Given the description of an element on the screen output the (x, y) to click on. 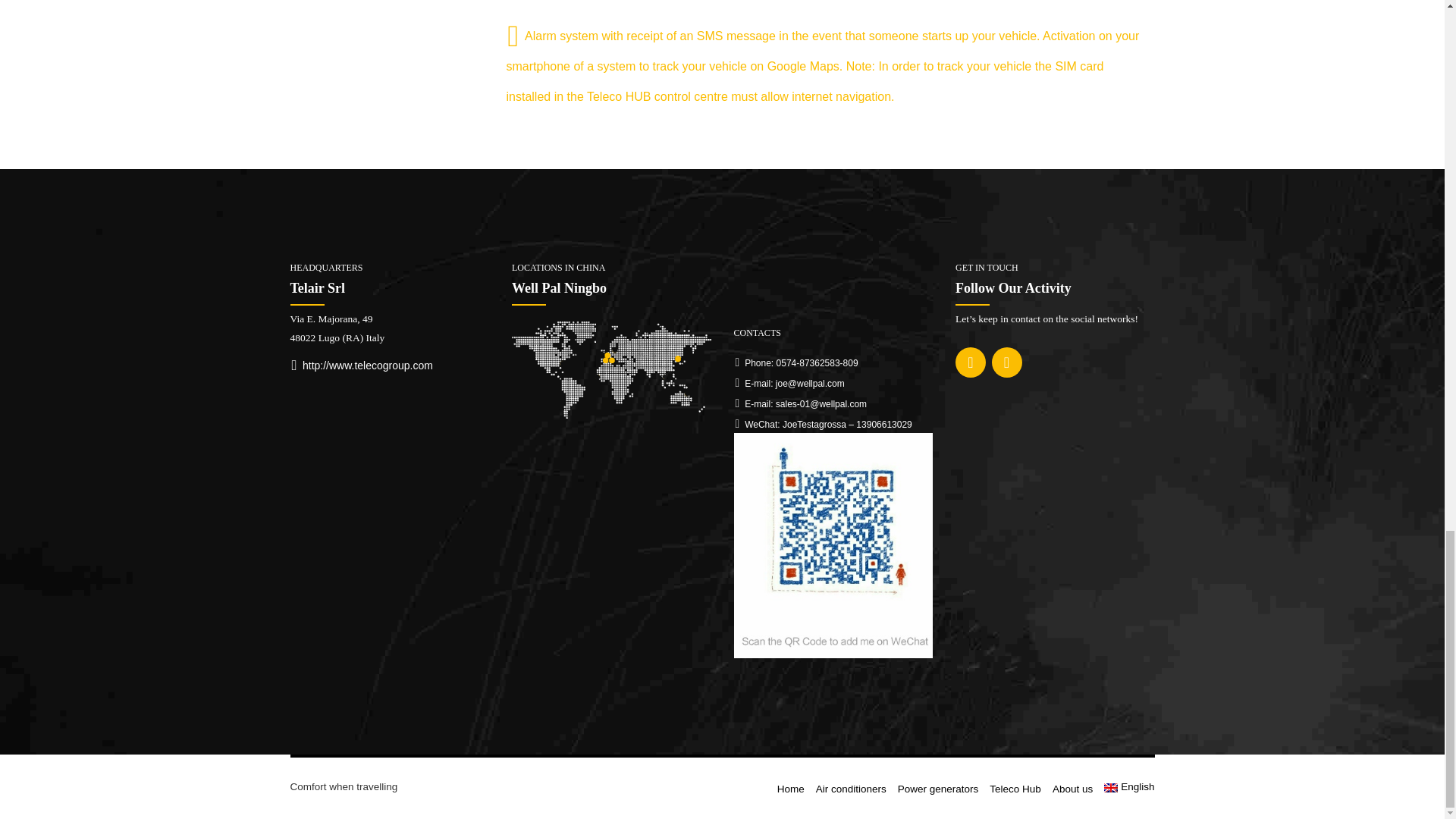
Home (791, 788)
About us (1072, 788)
Power generators (938, 788)
Air conditioners (850, 788)
English (1128, 787)
Teleco Hub (1015, 788)
Phone: 0574-87362583-809 (796, 362)
English (1128, 787)
